Given the description of an element on the screen output the (x, y) to click on. 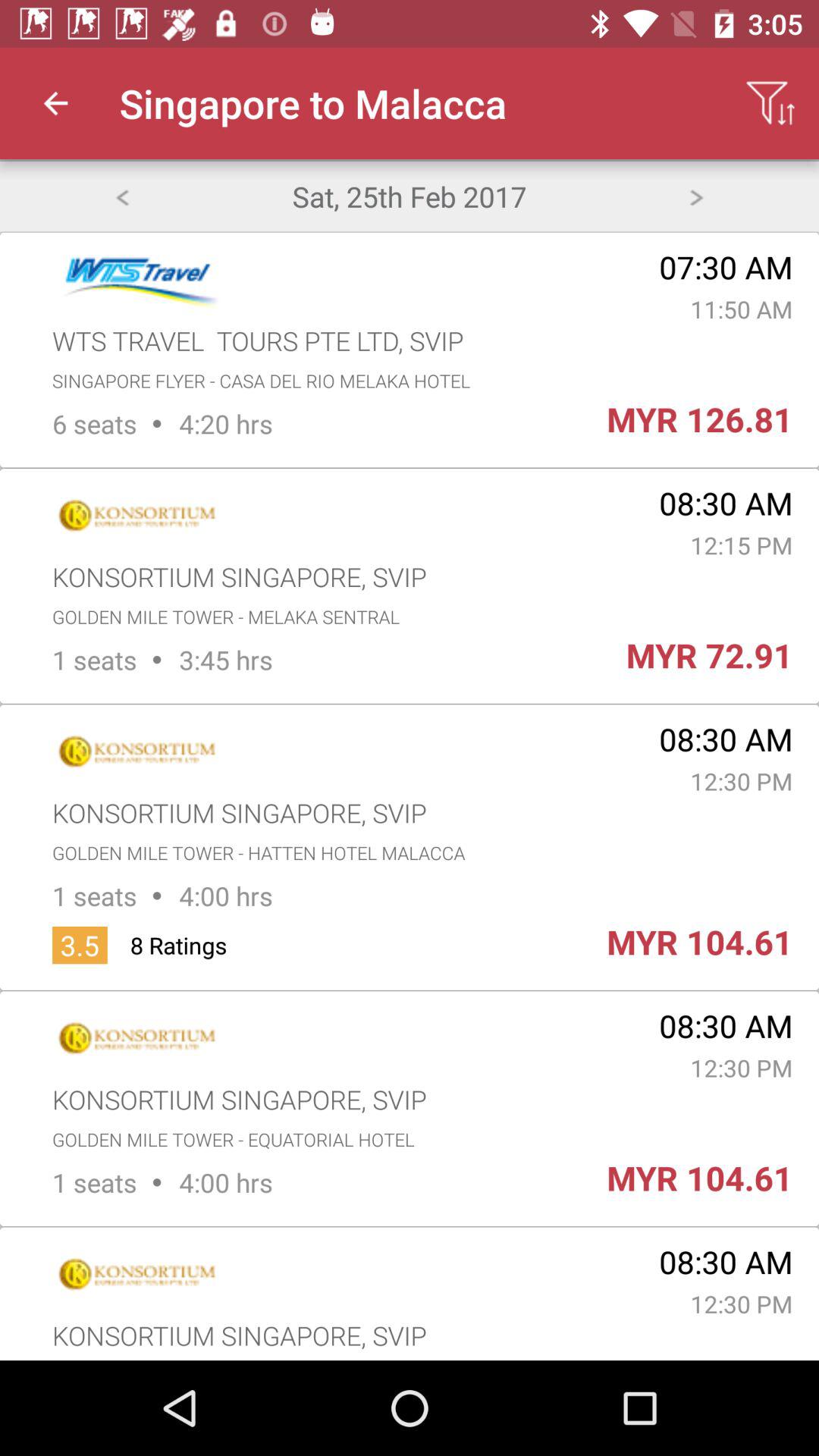
go to the next scheduled week (696, 196)
